Given the description of an element on the screen output the (x, y) to click on. 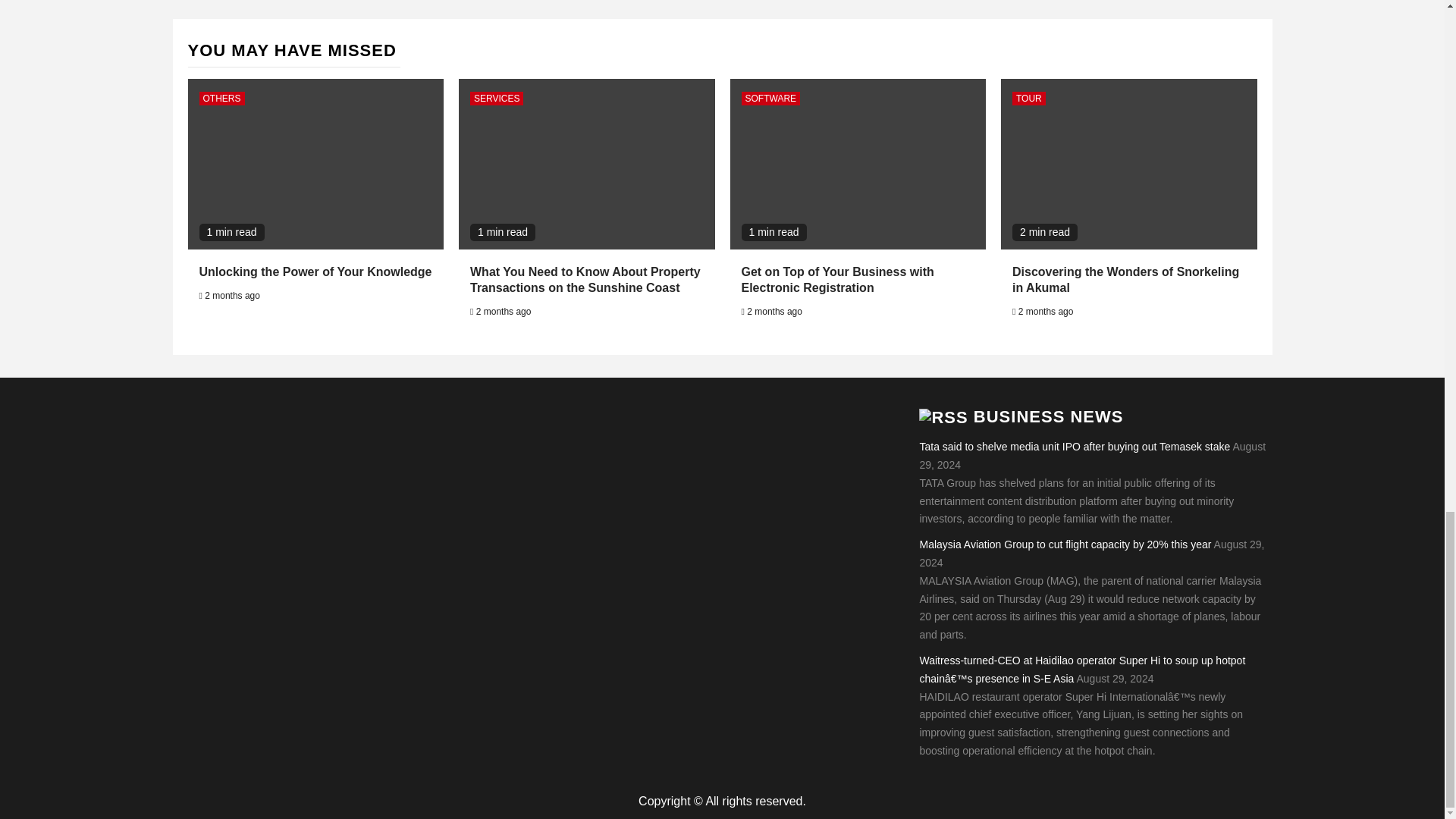
Unlocking the Power of Your Knowledge (314, 271)
Discovering the Wonders of Snorkeling in Akumal (1125, 279)
TOUR (1028, 98)
SERVICES (496, 98)
OTHERS (221, 98)
BUSINESS NEWS (1049, 416)
Get on Top of Your Business with Electronic Registration (837, 279)
SOFTWARE (770, 98)
